Given the description of an element on the screen output the (x, y) to click on. 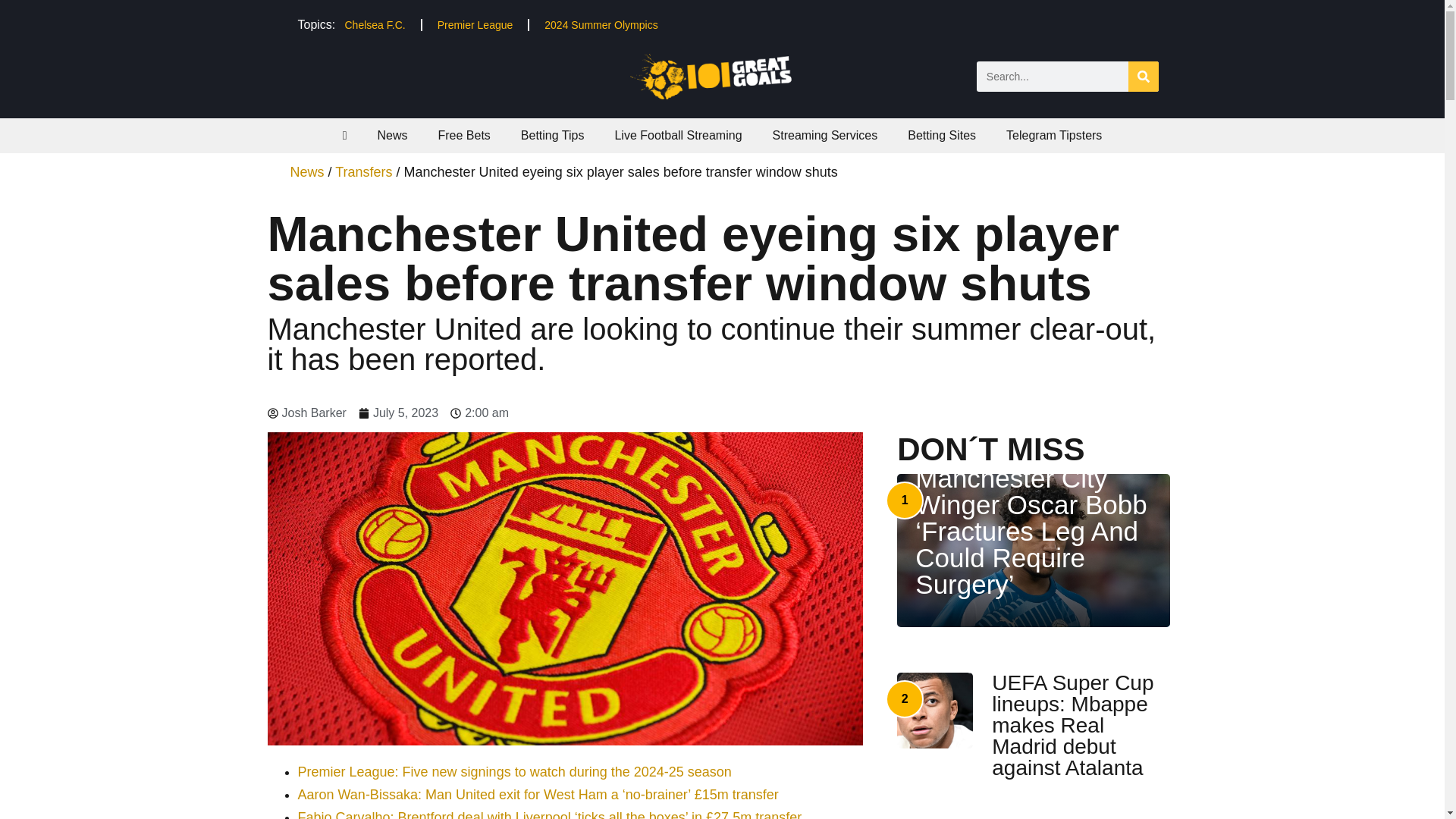
Betting Tips (552, 135)
News (391, 135)
Betting Sites (941, 135)
Free Bets (463, 135)
101 Great Goals (722, 76)
Streaming Services (825, 135)
Live Football Streaming (677, 135)
Premier League (475, 24)
Chelsea F.C. (374, 24)
2024 Summer Olympics (600, 24)
